Given the description of an element on the screen output the (x, y) to click on. 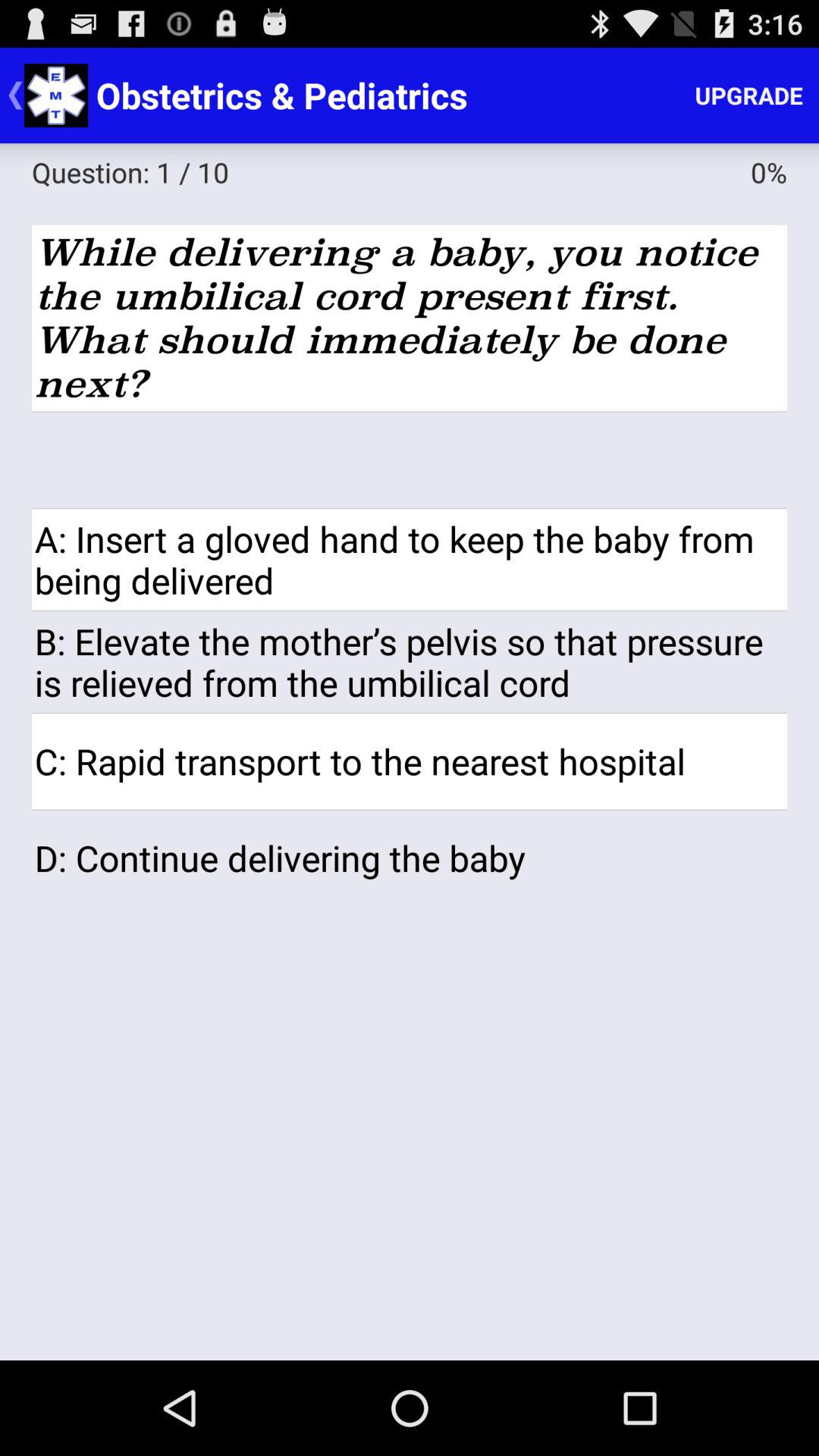
choose the item above the   icon (409, 318)
